Given the description of an element on the screen output the (x, y) to click on. 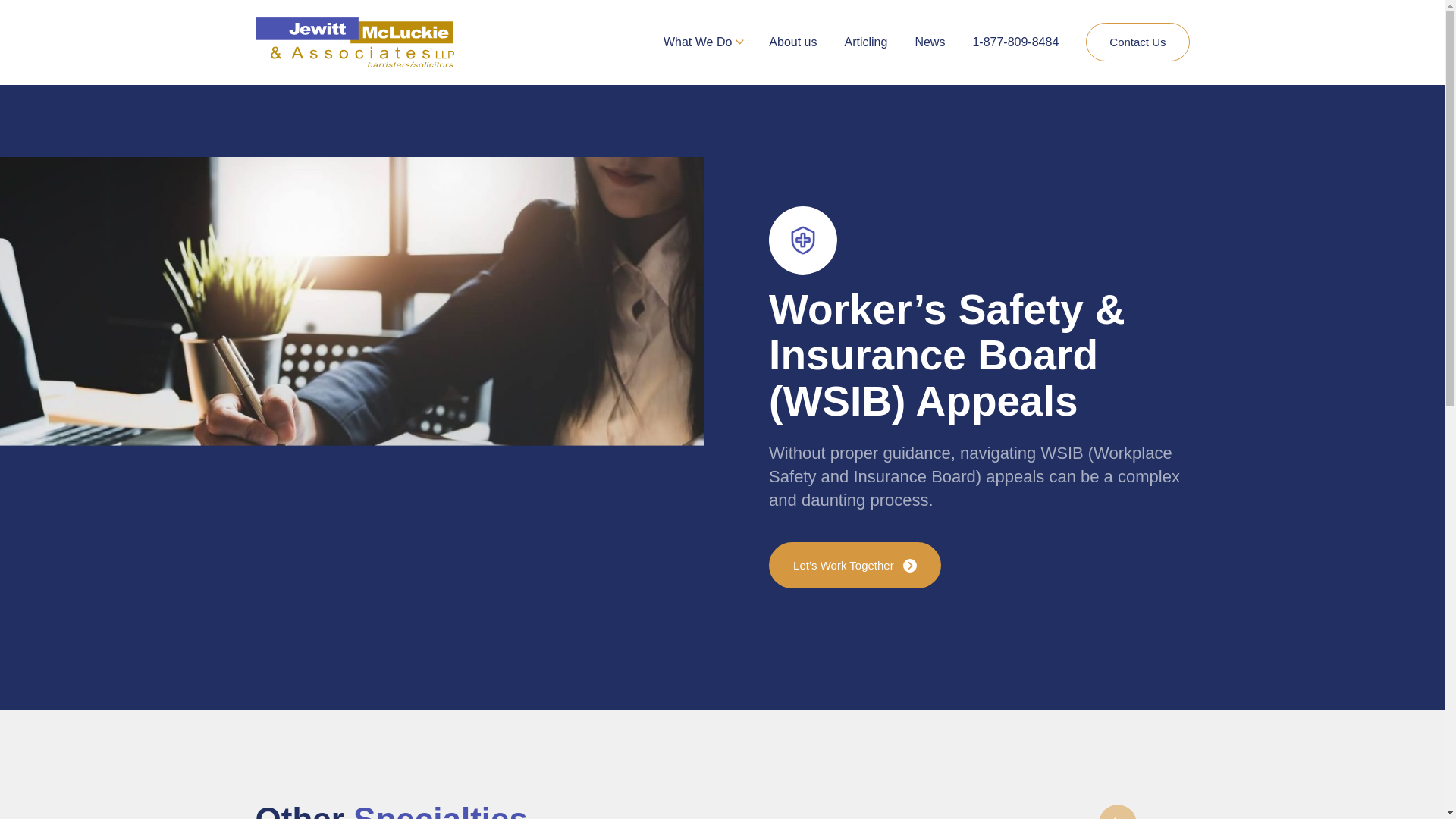
Articling (866, 41)
1-877-809-8484 (1015, 41)
News (929, 41)
About us (792, 41)
Contact Us (1137, 41)
What We Do (697, 41)
